Given the description of an element on the screen output the (x, y) to click on. 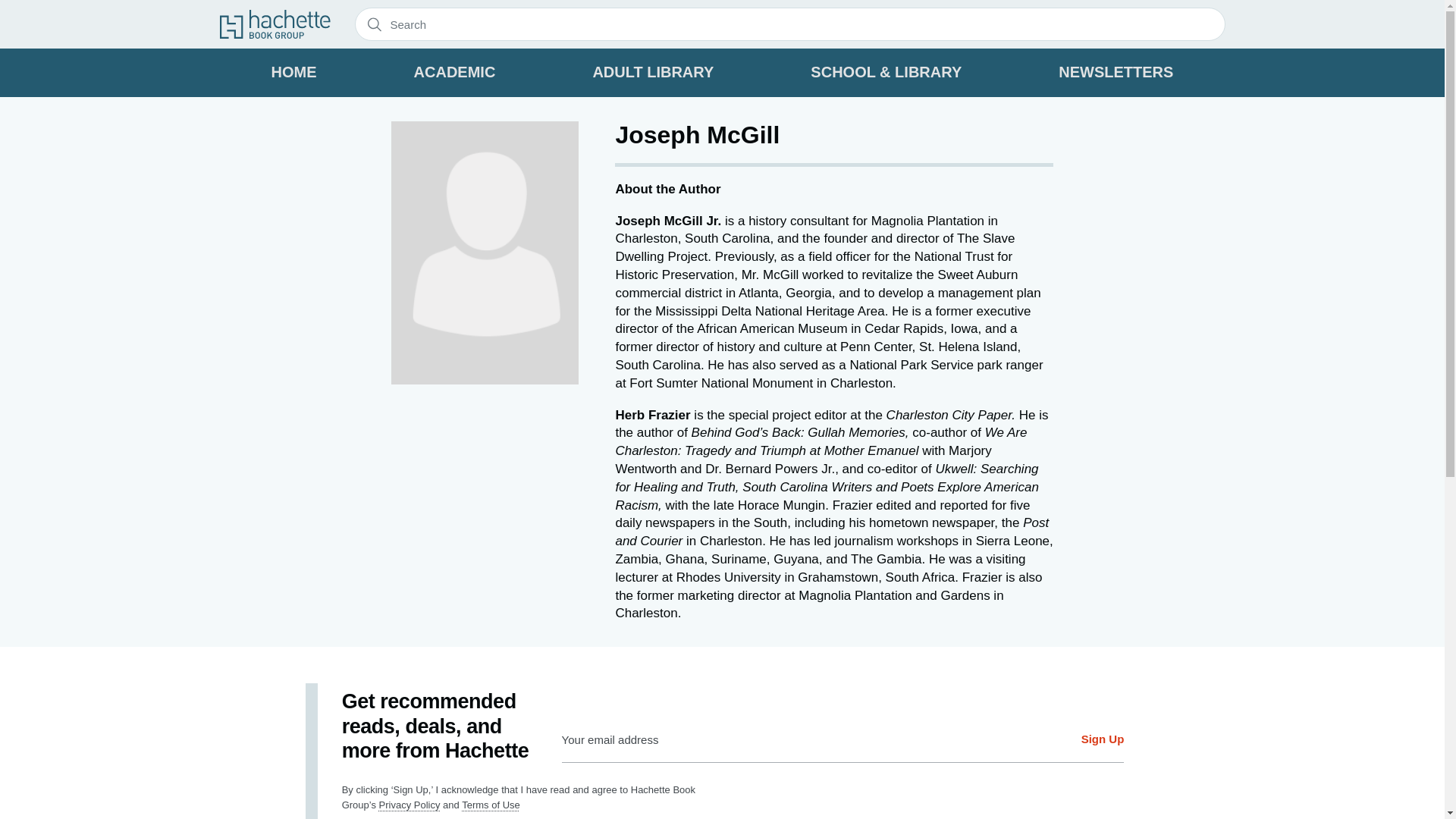
HOME (293, 72)
Go to Hachette Book Group home (274, 23)
ACADEMIC (454, 72)
